Given the description of an element on the screen output the (x, y) to click on. 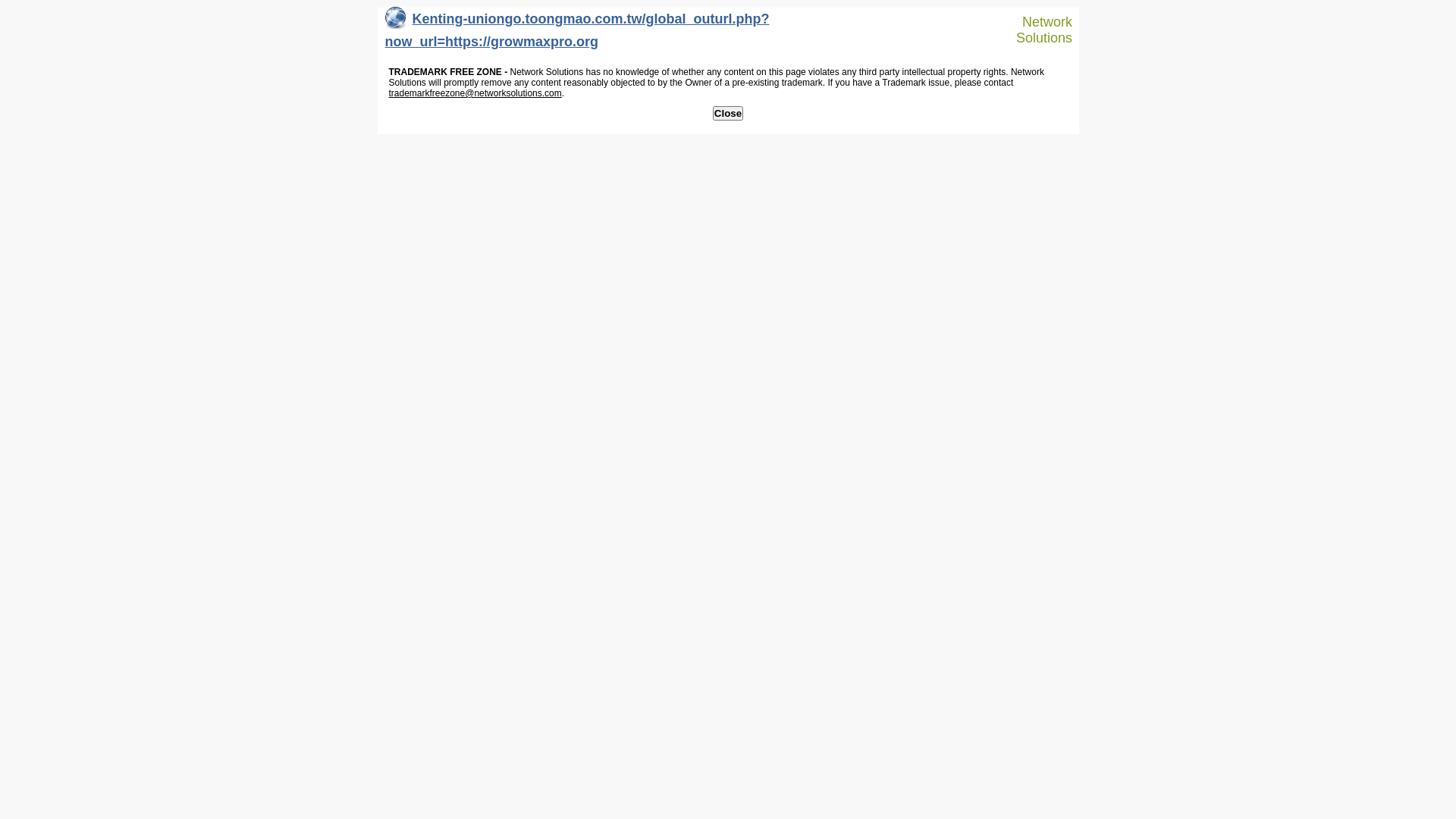
Network Solutions Element type: text (1037, 29)
Close Element type: text (727, 113)
trademarkfreezone@networksolutions.com Element type: text (474, 92)
